Given the description of an element on the screen output the (x, y) to click on. 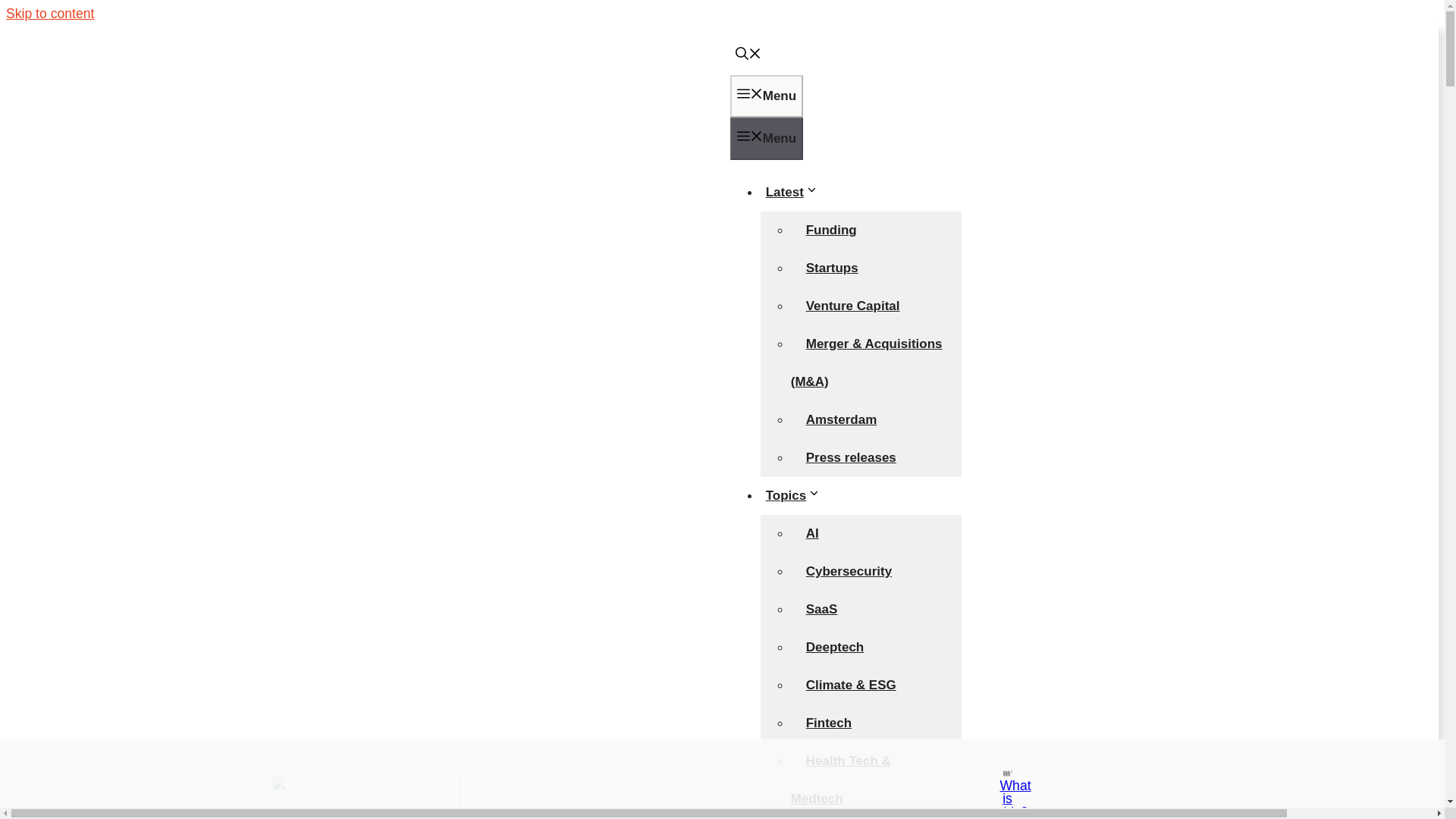
Menu (766, 138)
Skip to content (49, 13)
Venture Capital (852, 306)
Topics (794, 495)
Cybersecurity (848, 571)
Fintech (828, 722)
3rd party ad content (708, 773)
AI (812, 532)
Menu (766, 96)
Skip to content (49, 13)
Startups (831, 267)
Press releases (850, 457)
SaaS (821, 609)
SC 10 year horizontal (365, 797)
Deeptech (834, 646)
